Given the description of an element on the screen output the (x, y) to click on. 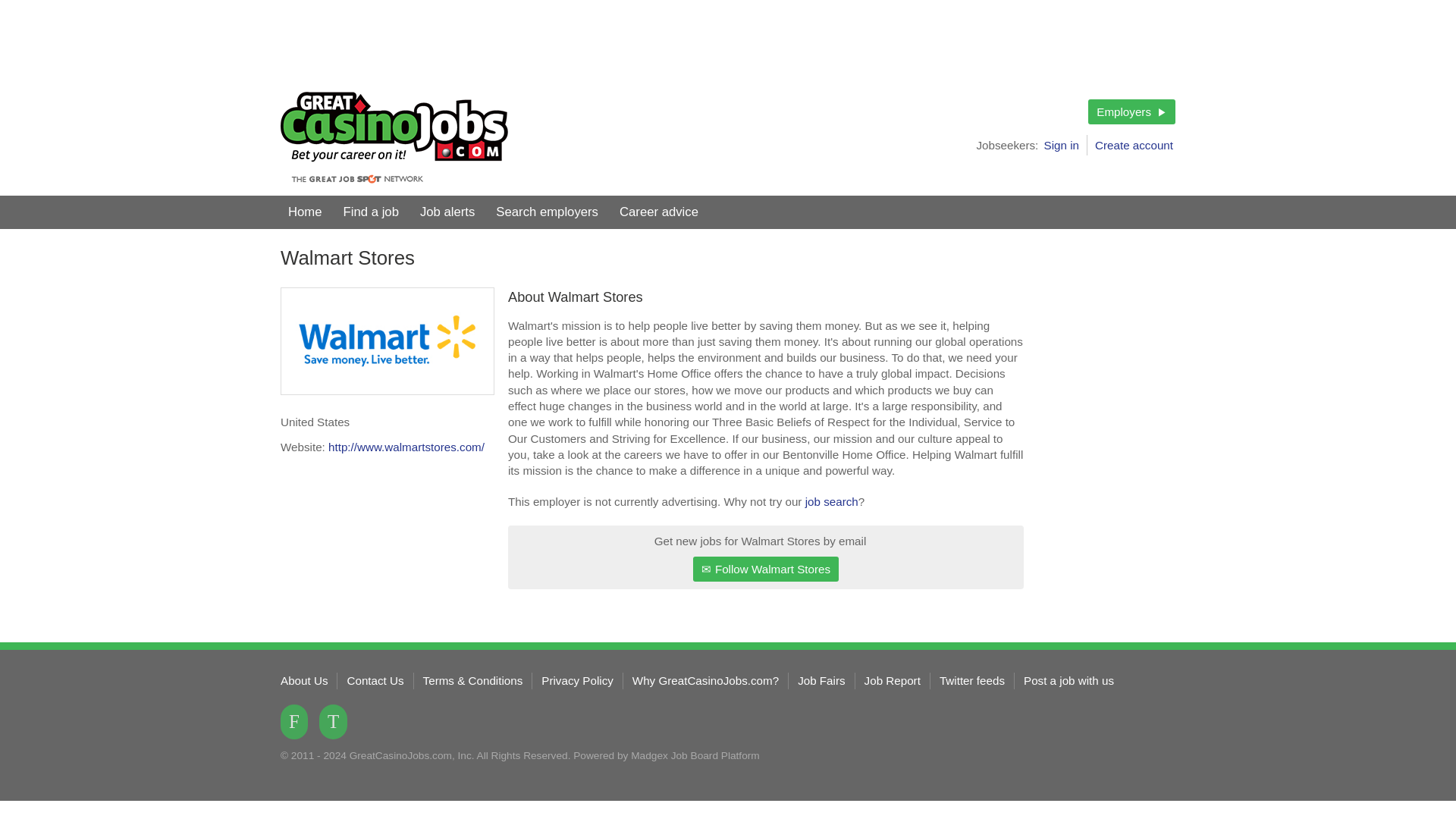
About Us (304, 680)
Sign in (1064, 145)
Post a job with us (1068, 680)
Employers (1130, 111)
GreatCasinoJobs.com (394, 137)
Why GreatCasinoJobs.com? (704, 680)
Home (305, 211)
Create account (1133, 145)
Twitter feeds (971, 680)
Follow Walmart Stores (765, 568)
Job Report (892, 680)
Career advice (658, 211)
Find a job (371, 211)
Job Fairs (820, 680)
Privacy Policy (576, 680)
